Given the description of an element on the screen output the (x, y) to click on. 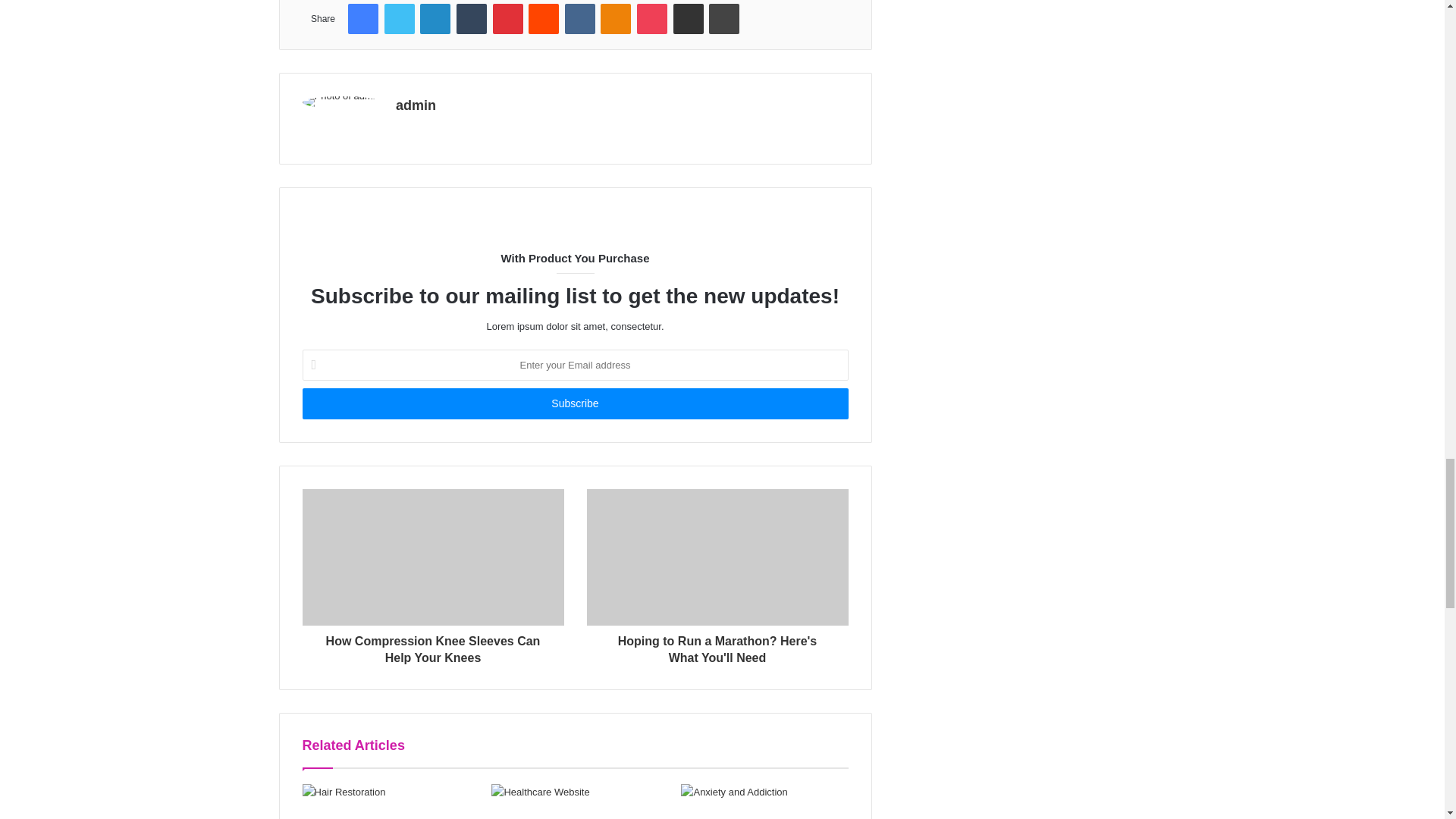
Subscribe (574, 403)
